Given the description of an element on the screen output the (x, y) to click on. 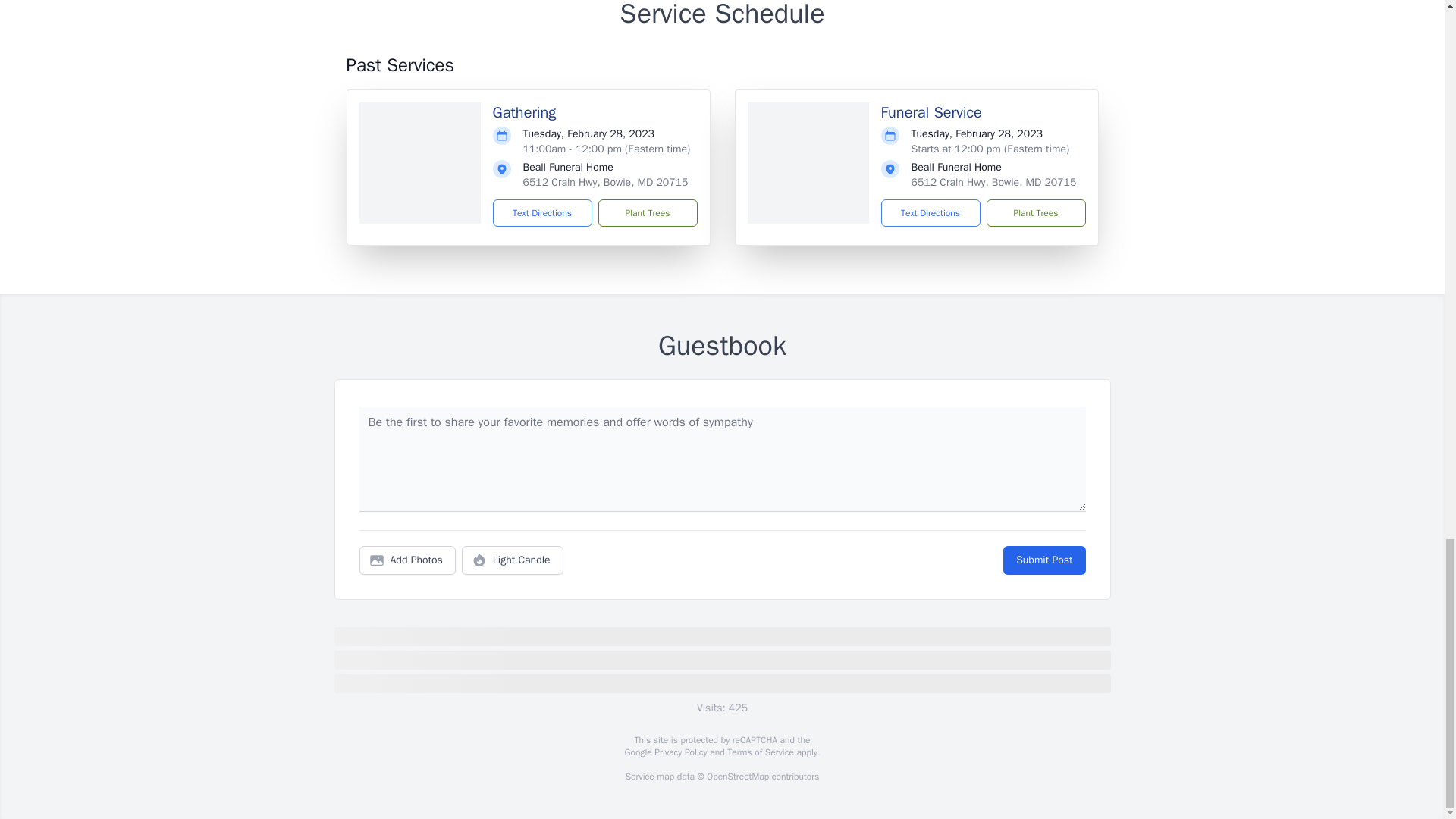
Plant Trees (646, 212)
Light Candle (512, 560)
OpenStreetMap (737, 776)
Text Directions (929, 212)
Terms of Service (759, 752)
Privacy Policy (679, 752)
Plant Trees (1034, 212)
6512 Crain Hwy, Bowie, MD 20715 (994, 182)
Text Directions (542, 212)
6512 Crain Hwy, Bowie, MD 20715 (605, 182)
